Given the description of an element on the screen output the (x, y) to click on. 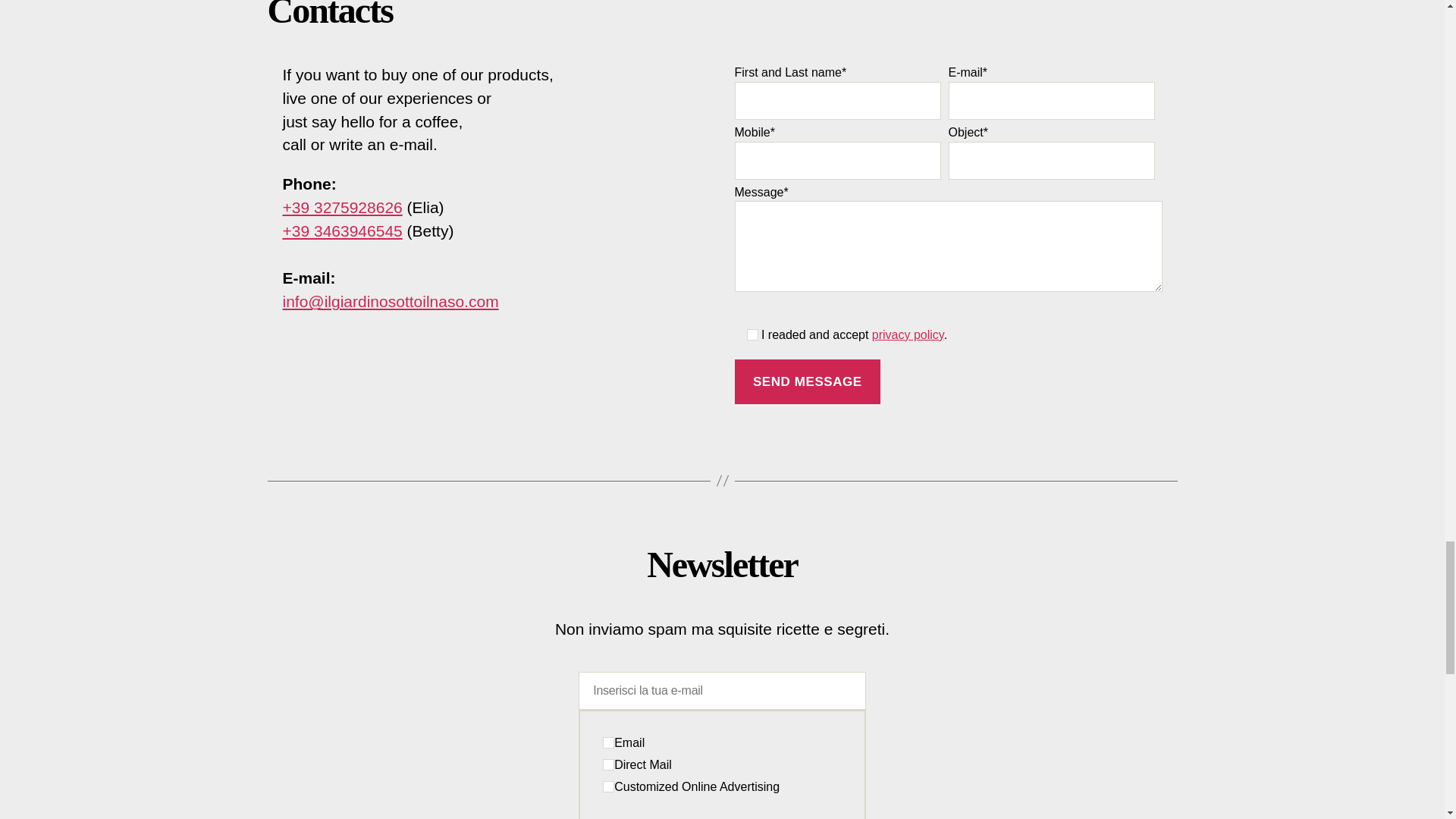
Y (608, 742)
Y (608, 786)
Y (608, 764)
1 (751, 334)
Send message (806, 381)
